Given the description of an element on the screen output the (x, y) to click on. 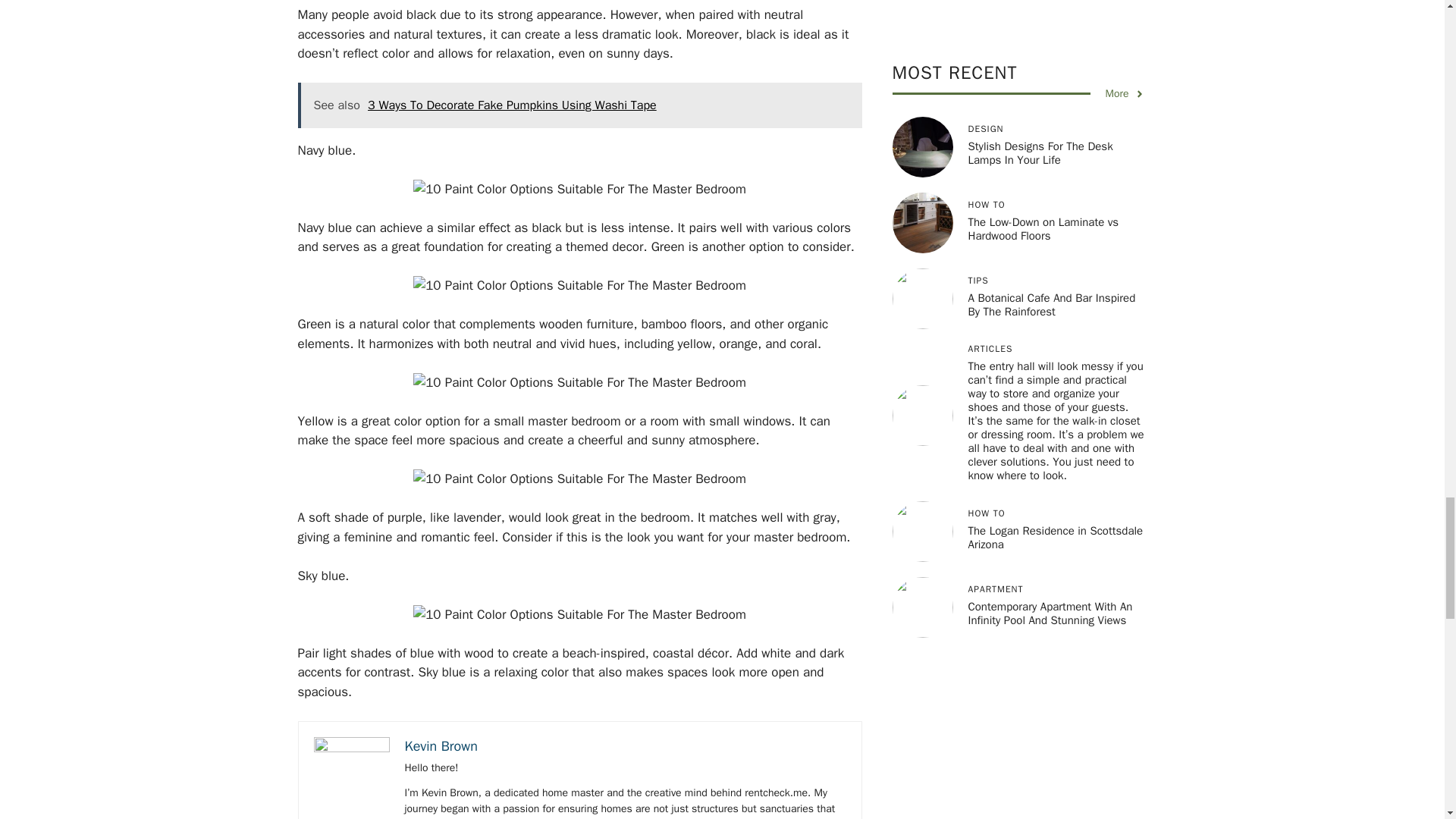
10 Paint Color Options Suitable For The Master Bedroom (579, 478)
10 Paint Color Options Suitable For The Master Bedroom (579, 285)
10 Paint Color Options Suitable For The Master Bedroom (579, 383)
Kevin Brown (440, 745)
10 Paint Color Options Suitable For The Master Bedroom (579, 189)
See also  3 Ways To Decorate Fake Pumpkins Using Washi Tape (579, 104)
10 Paint Color Options Suitable For The Master Bedroom (579, 614)
